Given the description of an element on the screen output the (x, y) to click on. 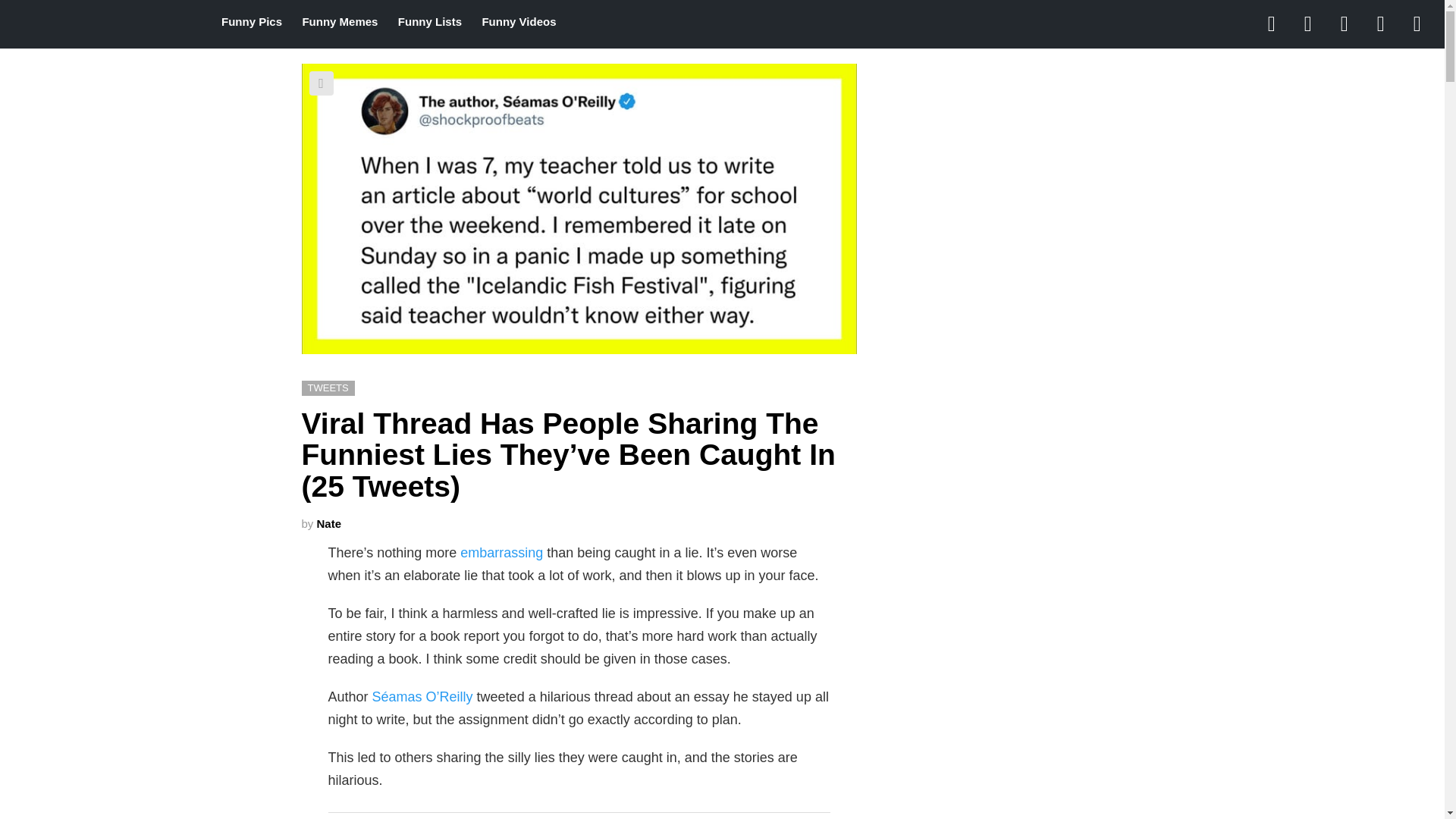
embarrassing (501, 552)
Funny Memes (339, 21)
Funny Lists (429, 21)
instagram (1344, 23)
Share (320, 83)
Funny Pics (251, 21)
twitter (1308, 23)
TWEETS (328, 387)
facebook (1271, 23)
Funny Videos (518, 21)
youtube (1417, 23)
Nate (329, 522)
Posts by Nate (329, 522)
tumblr (1380, 23)
